Given the description of an element on the screen output the (x, y) to click on. 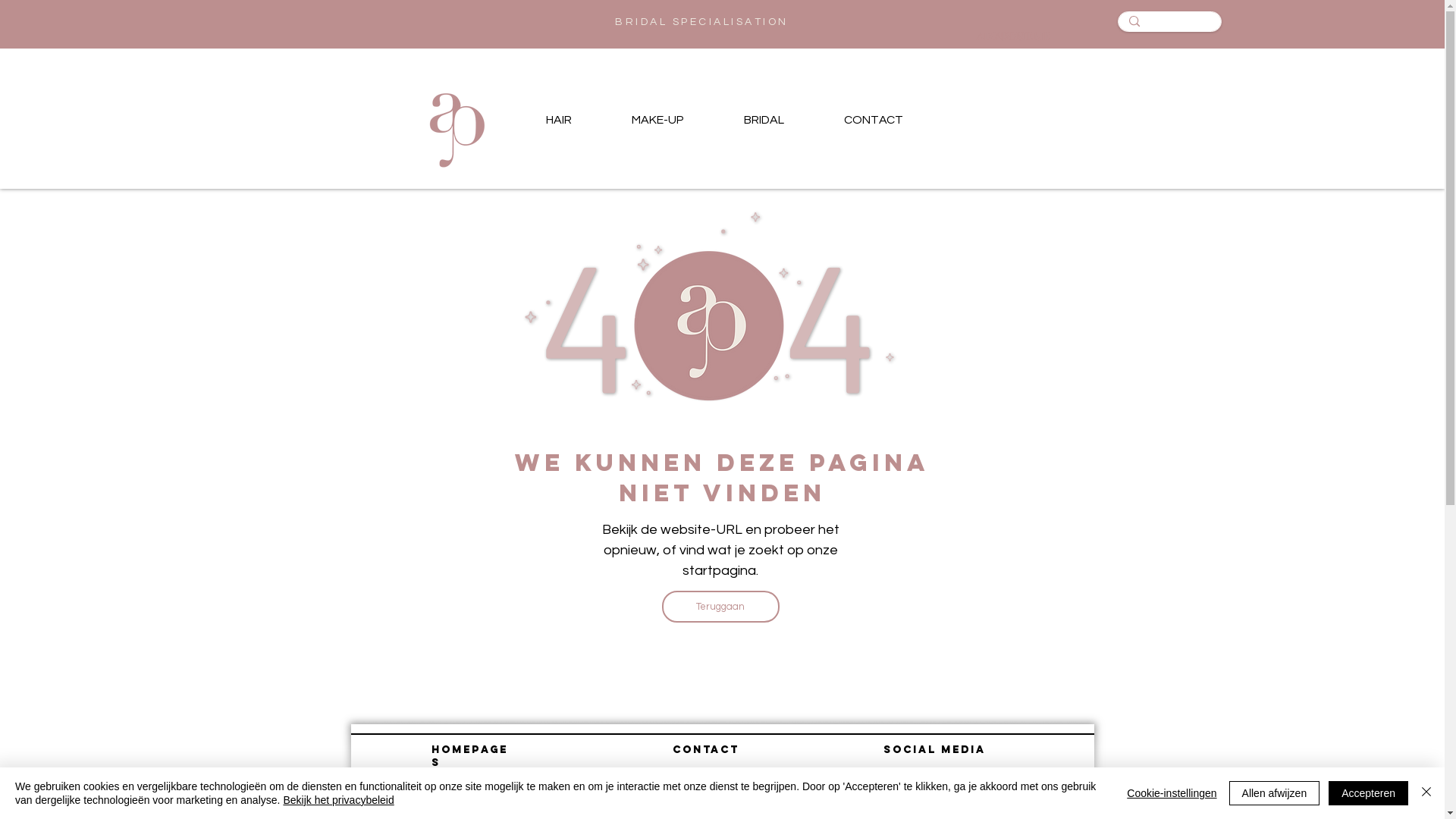
MAKE-UP Element type: text (658, 119)
Bekijk het privacybeleid Element type: text (337, 799)
ABOUT ME  Element type: text (1022, 36)
BRIDAL Element type: text (764, 119)
Teruggaan Element type: text (719, 606)
HAIR Element type: text (558, 119)
CONTACT Element type: text (873, 119)
Allen afwijzen Element type: text (1274, 793)
Accepteren Element type: text (1368, 793)
ABOUT ME  Element type: text (1005, 36)
